Given the description of an element on the screen output the (x, y) to click on. 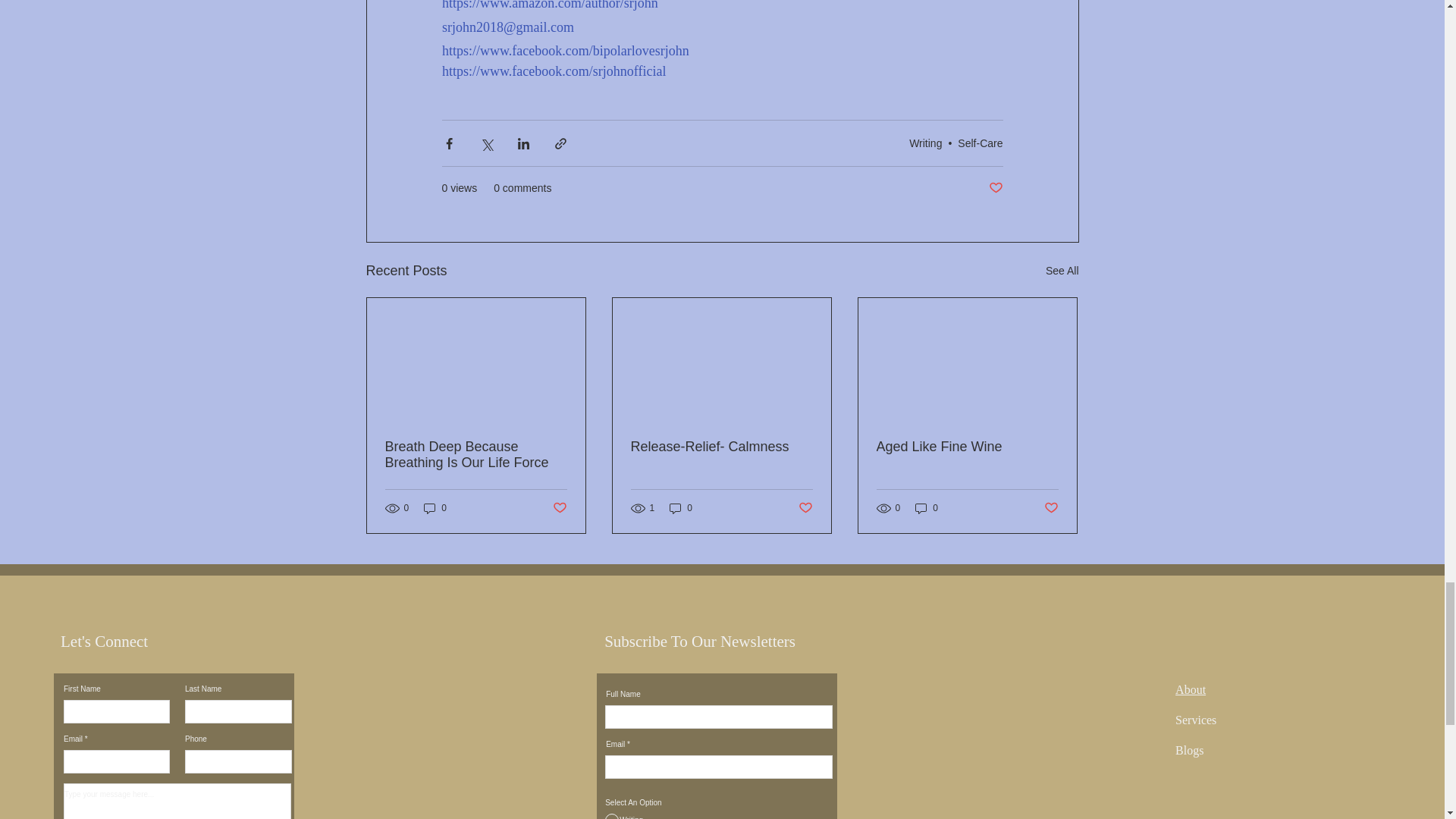
Self-Care (980, 143)
Writing (925, 143)
Release-Relief- Calmness (721, 446)
See All (1061, 270)
0 (435, 508)
Post not marked as liked (995, 188)
Post not marked as liked (558, 508)
Breath Deep Because Breathing Is Our Life Force (476, 454)
